Given the description of an element on the screen output the (x, y) to click on. 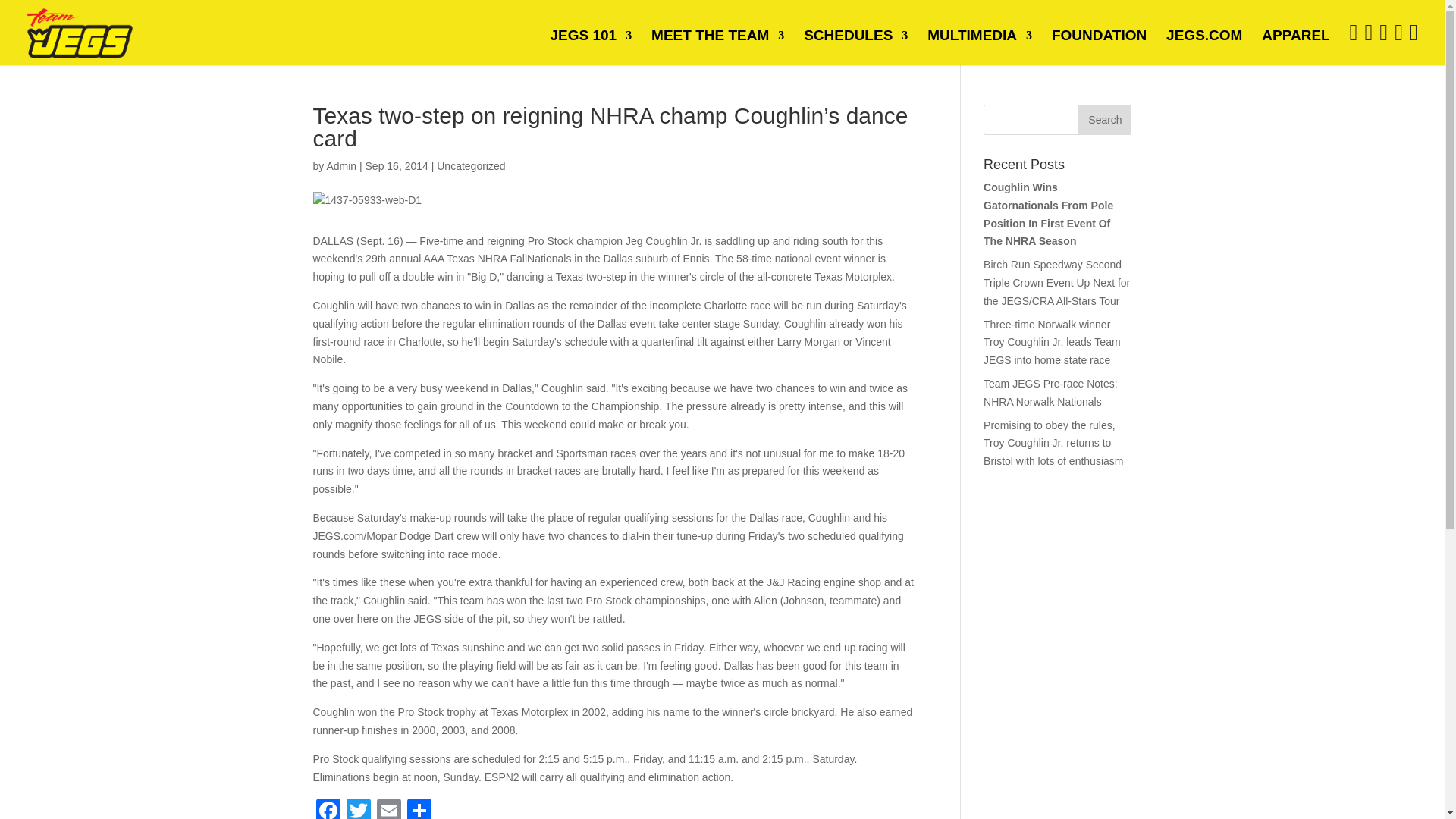
Email (387, 808)
MULTIMEDIA (979, 46)
Search (1104, 119)
MEET THE TEAM (717, 46)
Posts by Admin (341, 165)
SCHEDULES (855, 46)
JEGS 101 (590, 46)
Facebook (327, 808)
Twitter (357, 808)
